Given the description of an element on the screen output the (x, y) to click on. 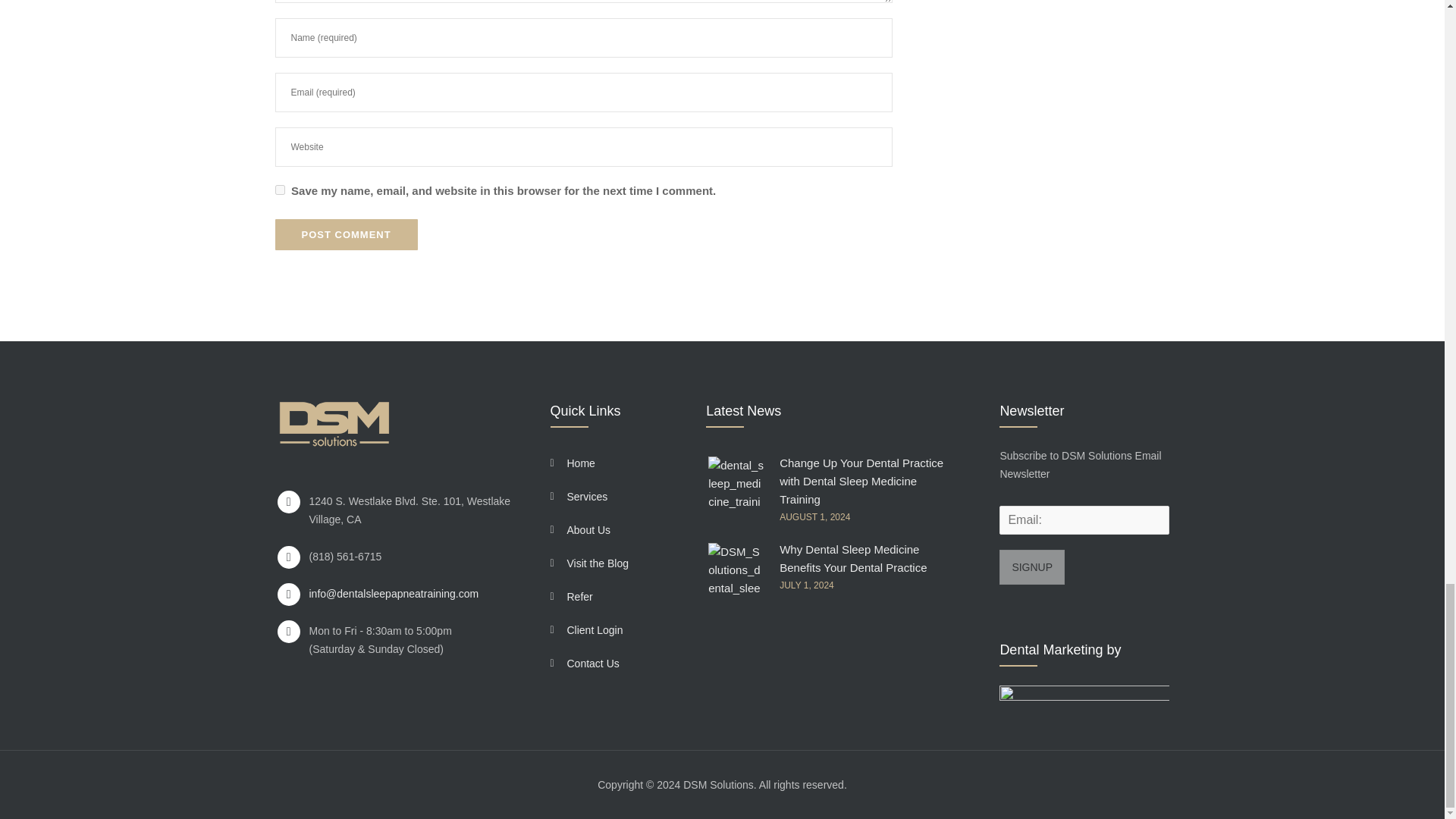
Services (617, 496)
Home (617, 462)
yes (279, 189)
About Us (617, 530)
Visit the Blog (617, 563)
Post Comment (345, 234)
Post Comment (345, 234)
